Given the description of an element on the screen output the (x, y) to click on. 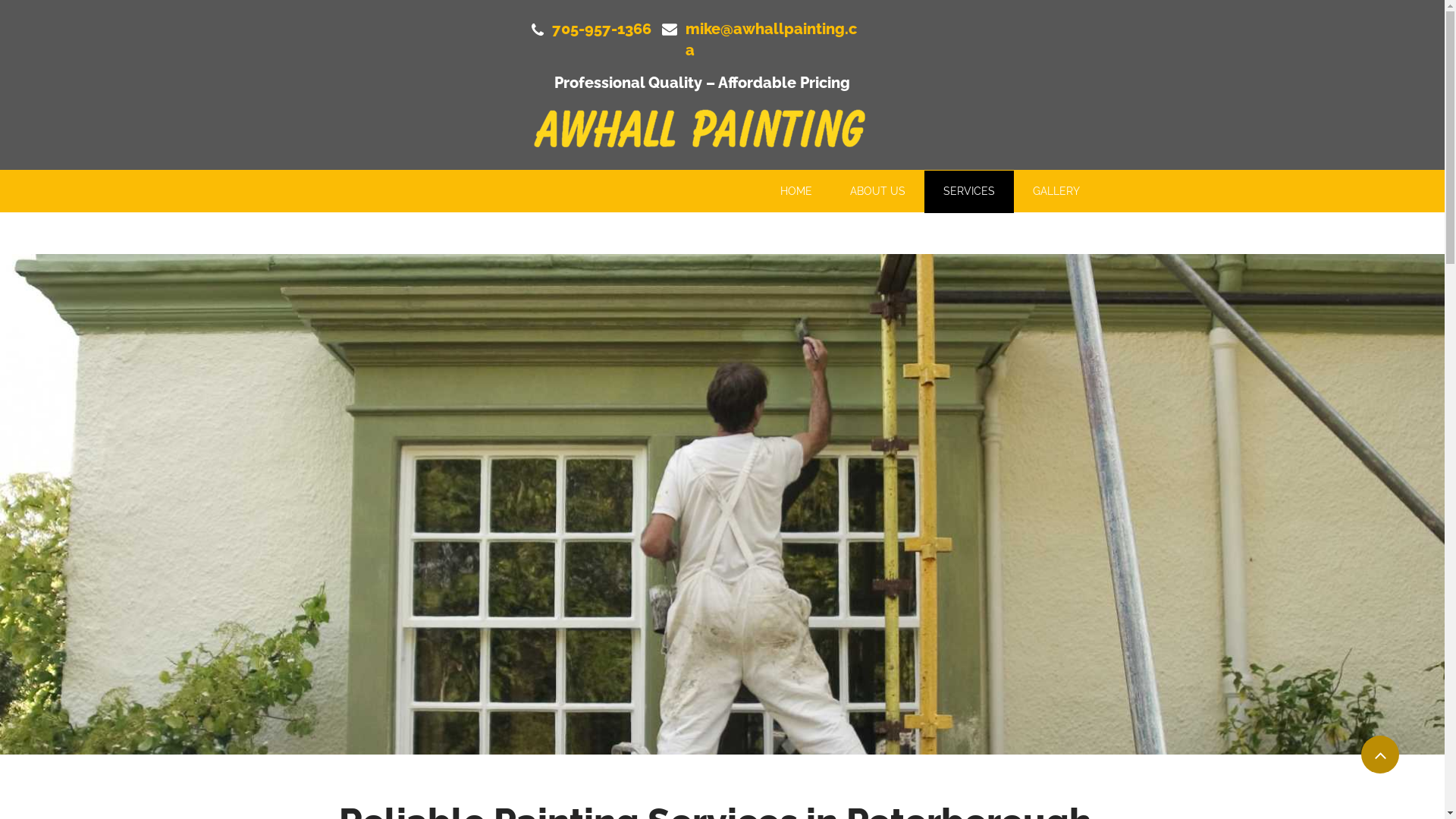
SERVICES Element type: text (968, 191)
GALLERY Element type: text (1055, 191)
ABOUT US Element type: text (877, 191)
705-957-1366 Element type: text (601, 31)
mike@awhallpainting.ca Element type: text (770, 41)
CONTACT US Element type: text (929, 234)
HOME Element type: text (796, 191)
